Given the description of an element on the screen output the (x, y) to click on. 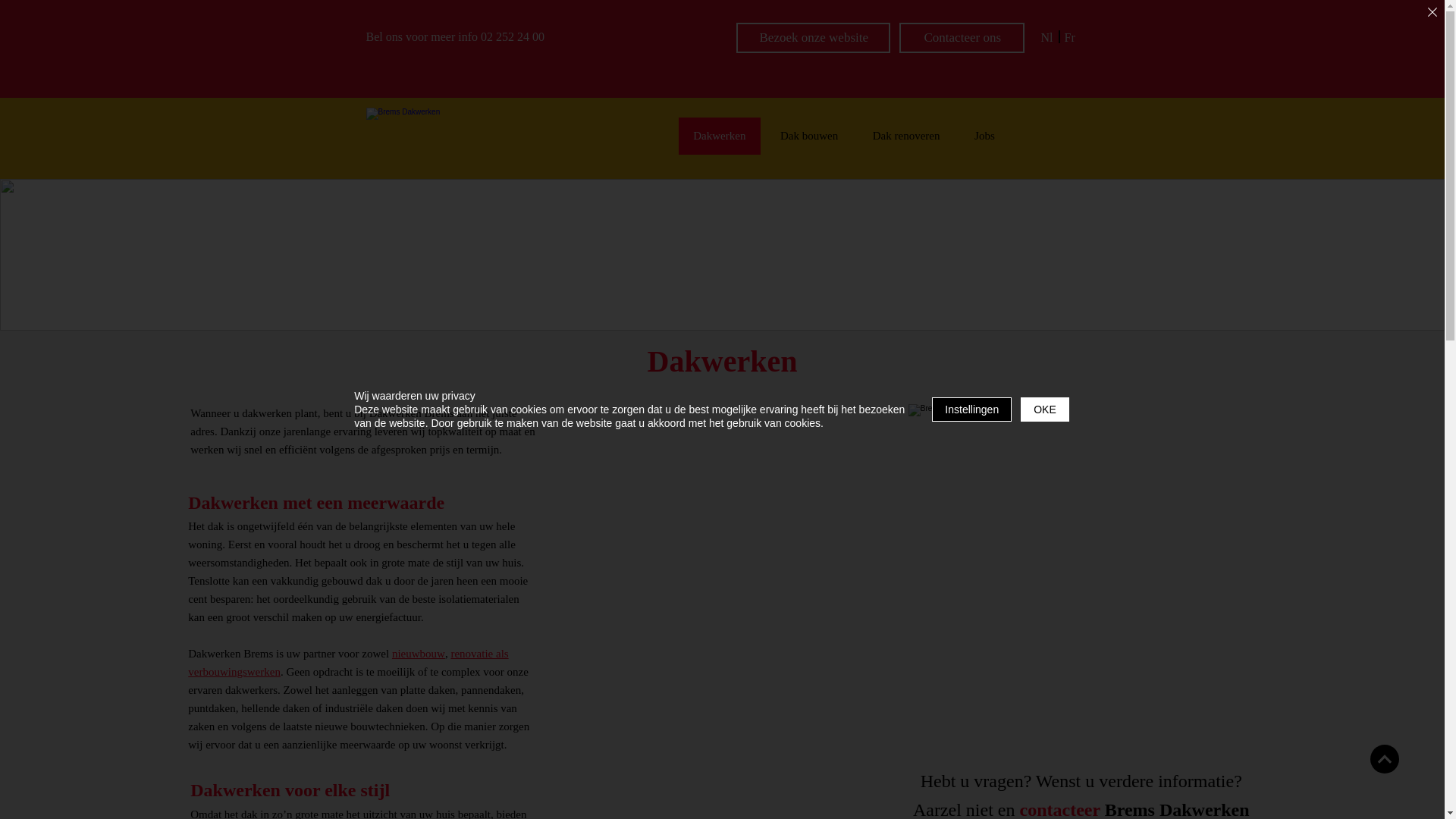
Dakwerken Element type: text (718, 135)
renovatie als verbouwingswerken Element type: text (348, 662)
Dak renoveren Element type: text (905, 135)
Bezoek onze website Element type: text (812, 37)
Fr Element type: text (1069, 37)
nieuwbouw Element type: text (418, 653)
Dak bouwen Element type: text (809, 135)
Contacteer ons Element type: text (961, 37)
Jobs Element type: text (984, 135)
Nl Element type: text (1046, 37)
02 252 24 00 Element type: text (512, 36)
